Given the description of an element on the screen output the (x, y) to click on. 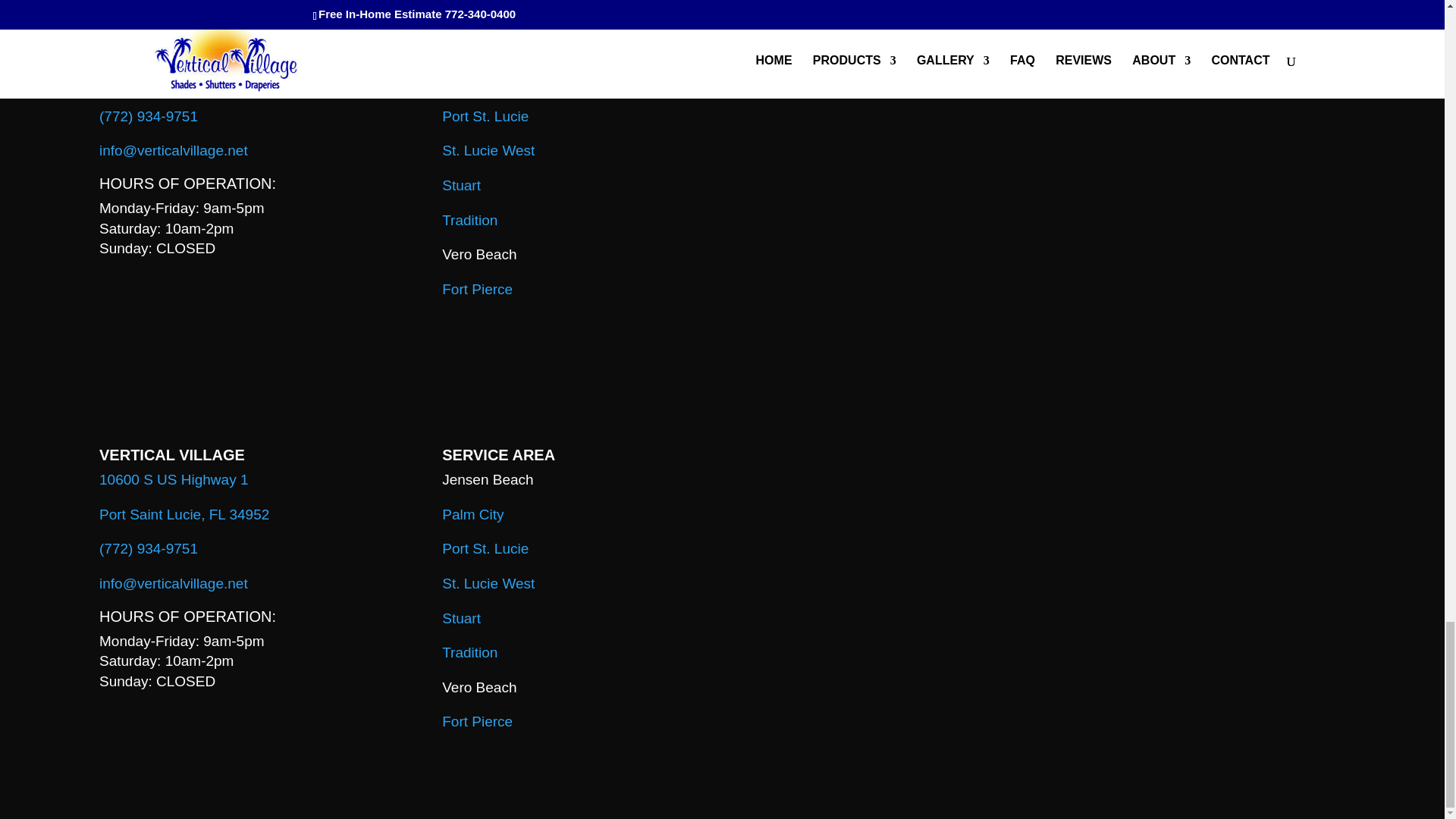
Tradition (469, 220)
Fort Pierce (477, 289)
10600 S US Highway 1 (173, 479)
St. Lucie West (488, 150)
Port St. Lucie (485, 116)
Stuart (461, 185)
Port Saint Lucie, FL 34952 (184, 81)
10600 S US Highway 1 (173, 47)
Palm City (472, 81)
